Given the description of an element on the screen output the (x, y) to click on. 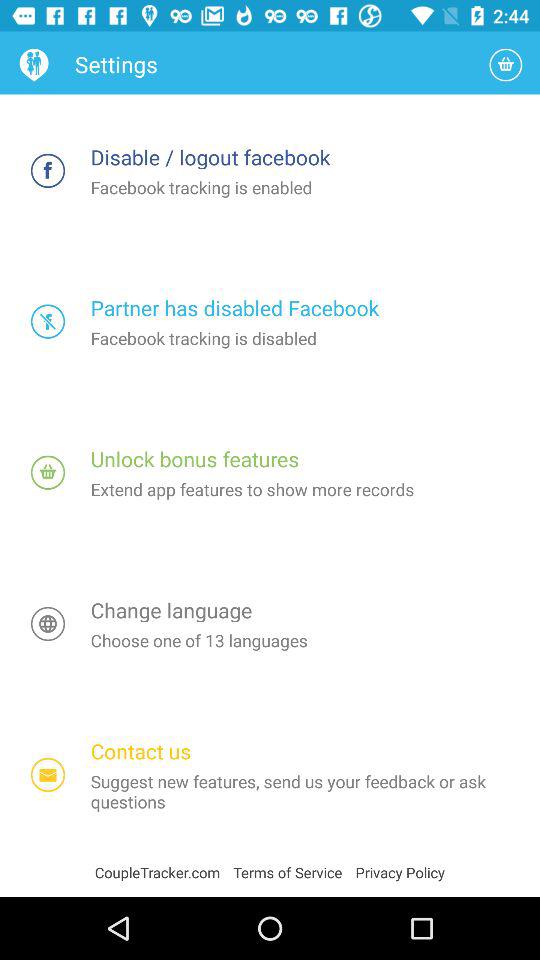
open privacy policy item (399, 872)
